Given the description of an element on the screen output the (x, y) to click on. 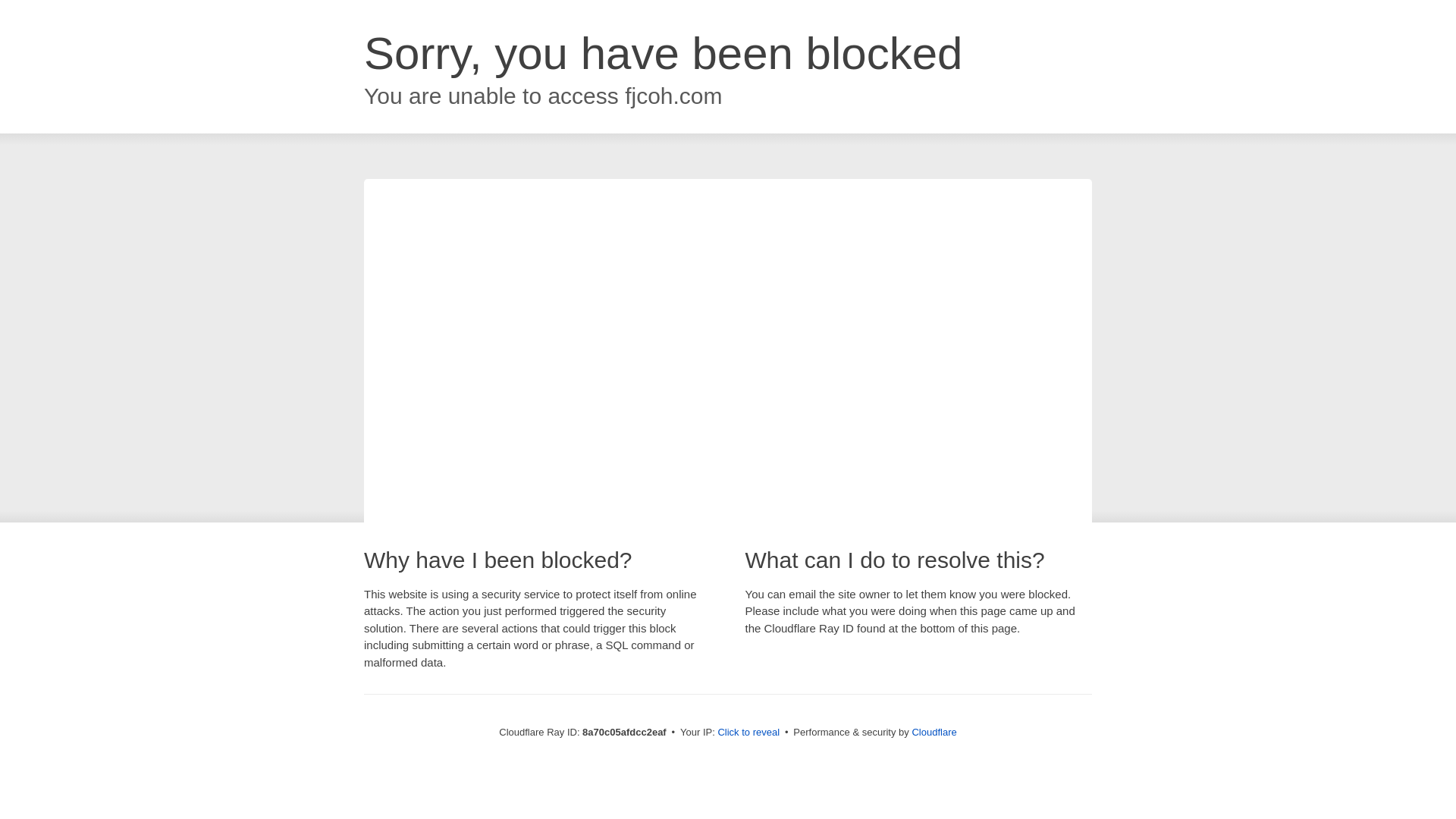
Cloudflare (933, 731)
Click to reveal (747, 732)
